Given the description of an element on the screen output the (x, y) to click on. 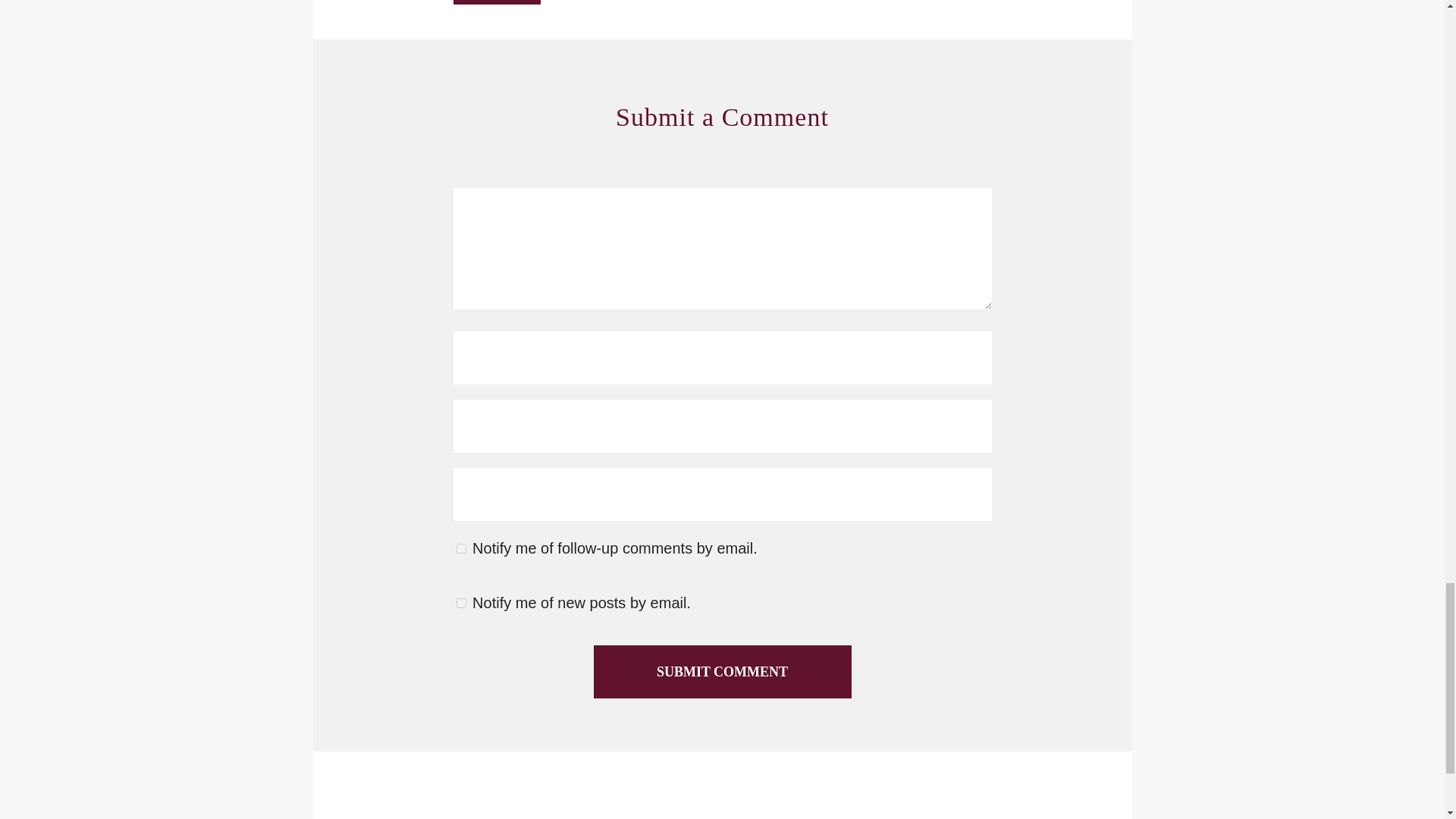
Submit Comment (721, 671)
subscribe (461, 548)
subscribe (461, 603)
